Given the description of an element on the screen output the (x, y) to click on. 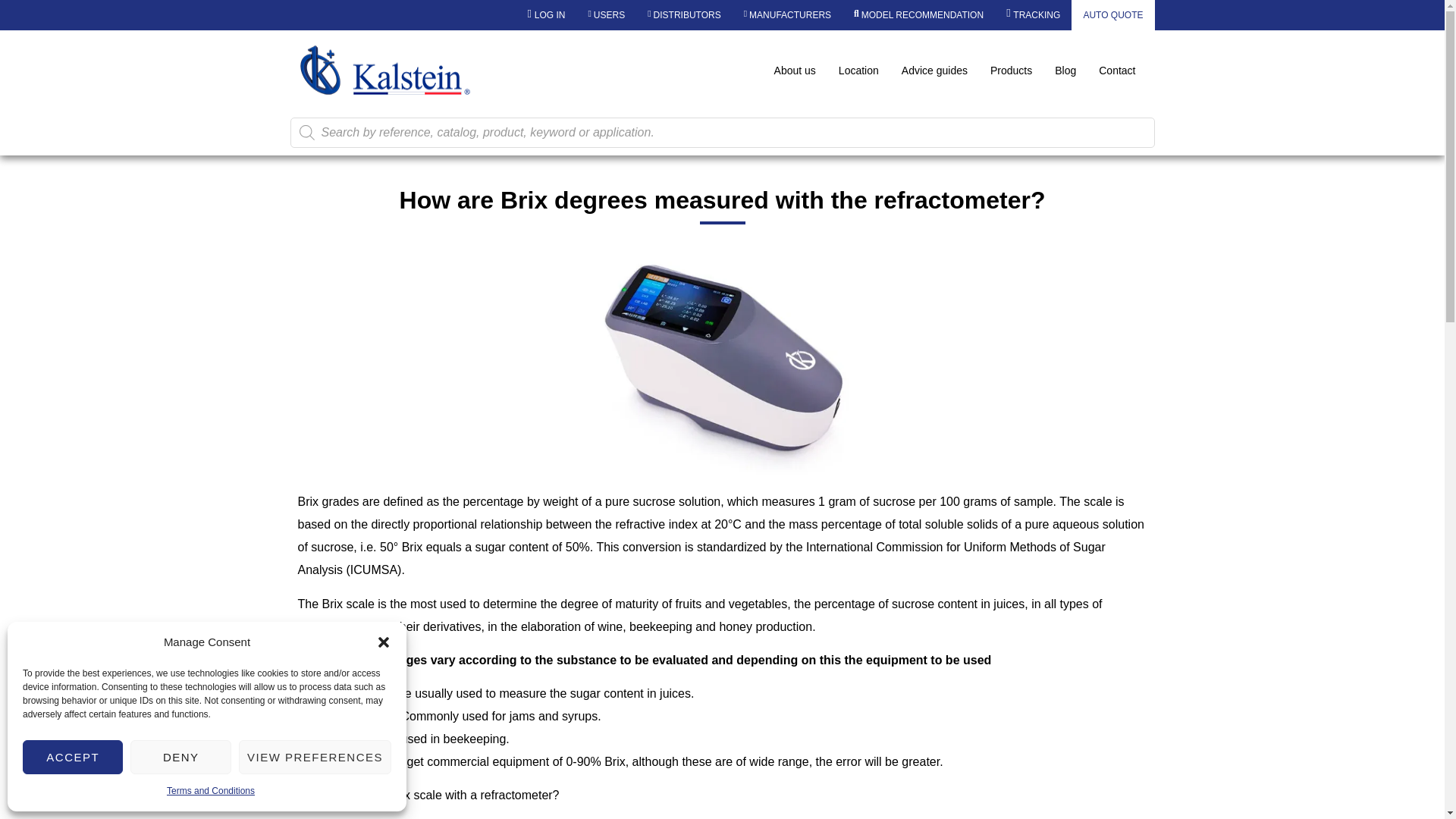
Location (858, 69)
About us (794, 69)
TRACKING (1032, 15)
AUTO QUOTE (1112, 15)
LOG IN (546, 15)
DISTRIBUTORS (684, 15)
Terms and Conditions (210, 791)
DENY (180, 756)
ACCEPT (72, 756)
MODEL RECOMMENDATION (918, 15)
